Given the description of an element on the screen output the (x, y) to click on. 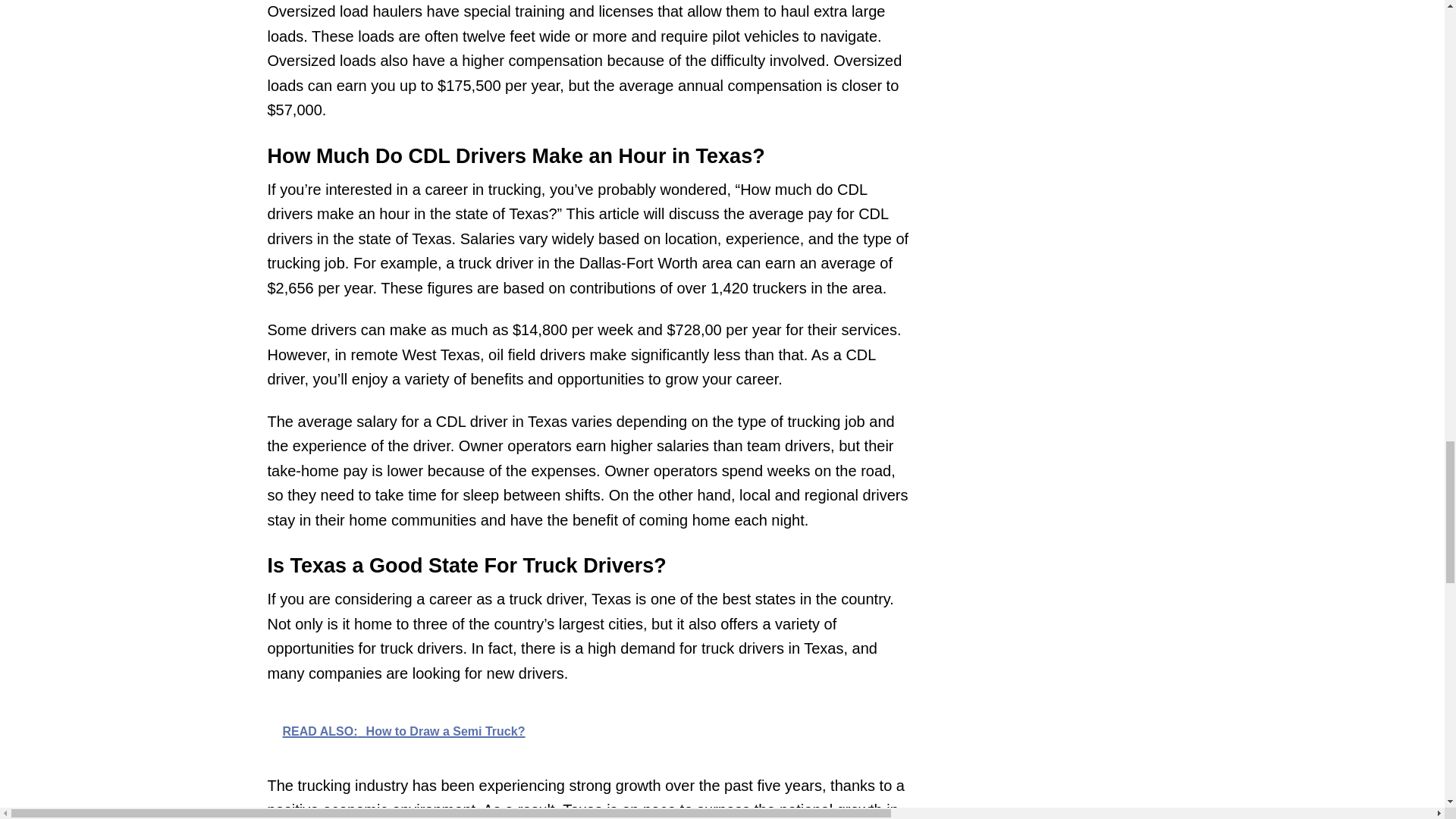
READ ALSO:  How to Draw a Semi Truck? (588, 730)
